Given the description of an element on the screen output the (x, y) to click on. 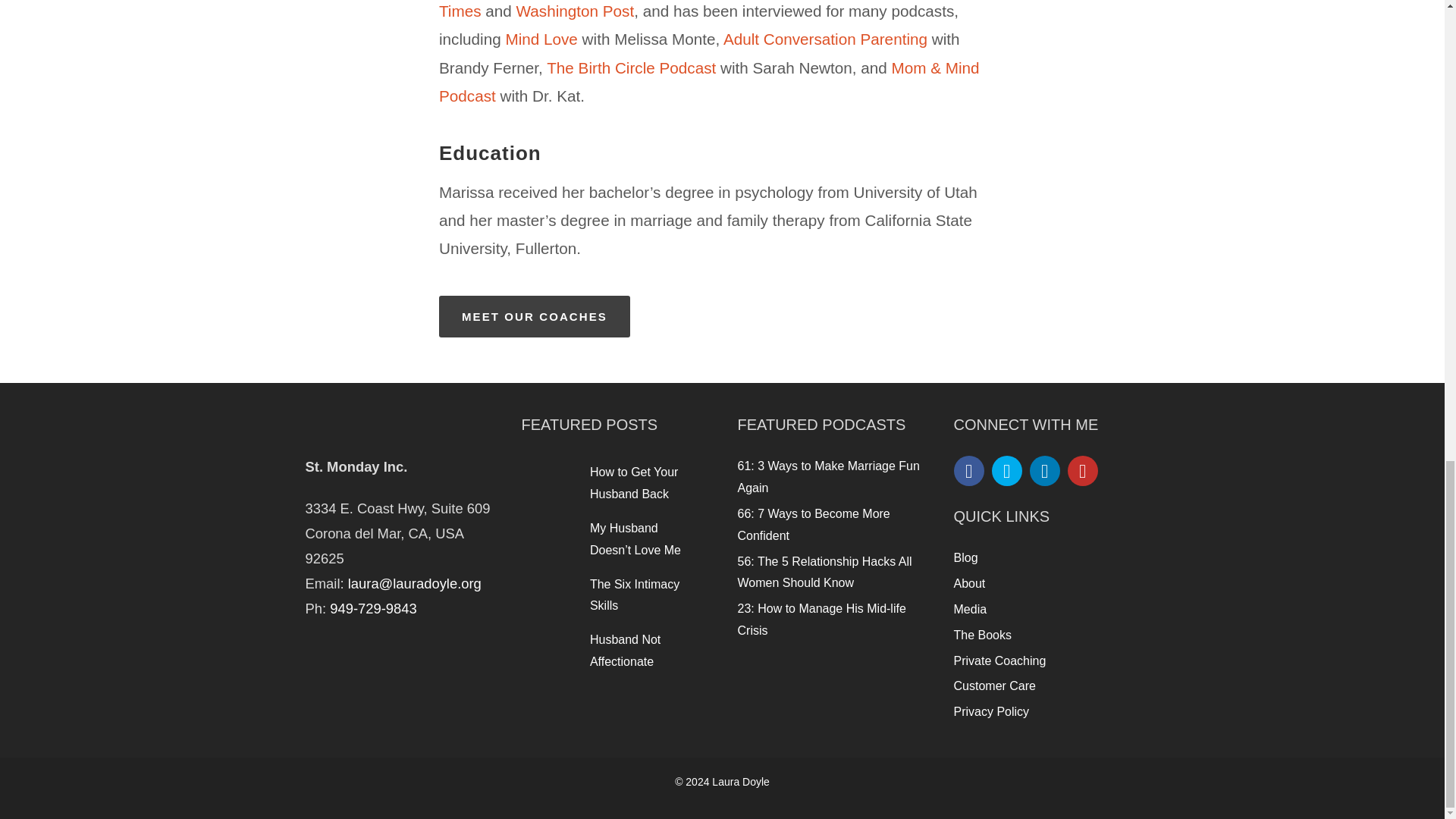
The Birth Circle Podcast (631, 67)
How to Get Your Husband Back (633, 483)
Washington Post (575, 10)
949-729-9843 (373, 608)
MEET OUR COACHES (534, 316)
61: 3 Ways to Make Marriage Fun Again (827, 476)
Mind Love (540, 38)
Husband Not Affectionate (625, 650)
The Six Intimacy Skills (634, 595)
Adult Conversation Parenting (825, 38)
